Given the description of an element on the screen output the (x, y) to click on. 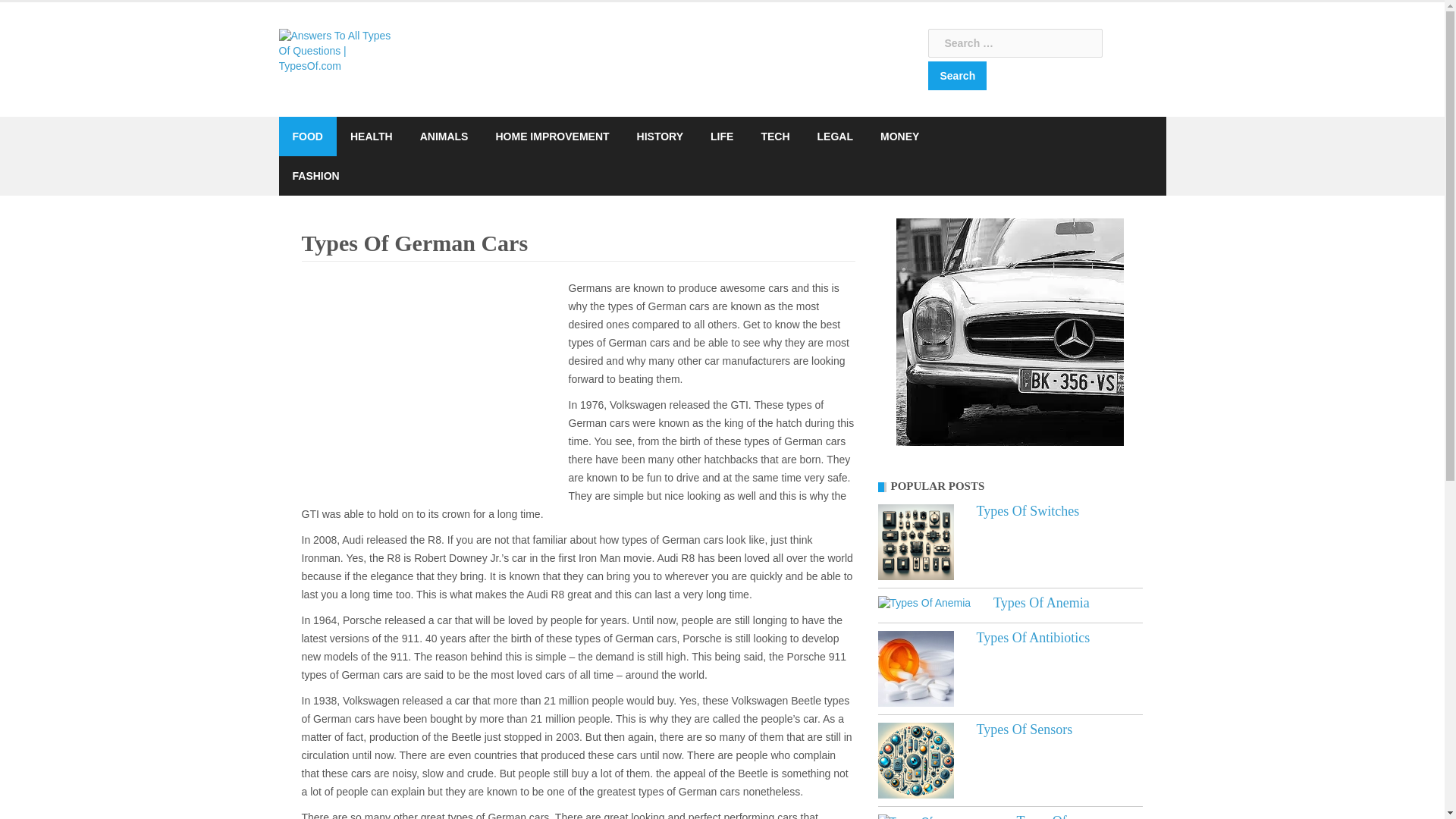
FASHION (315, 175)
MONEY (899, 136)
Search (957, 75)
Types Of Unemployment (1059, 816)
Types Of Anemia (1040, 602)
ANIMALS (444, 136)
HISTORY (659, 136)
Types Of Switches (1028, 510)
Types Of Antibiotics (915, 668)
Types Of Switches (915, 541)
